Given the description of an element on the screen output the (x, y) to click on. 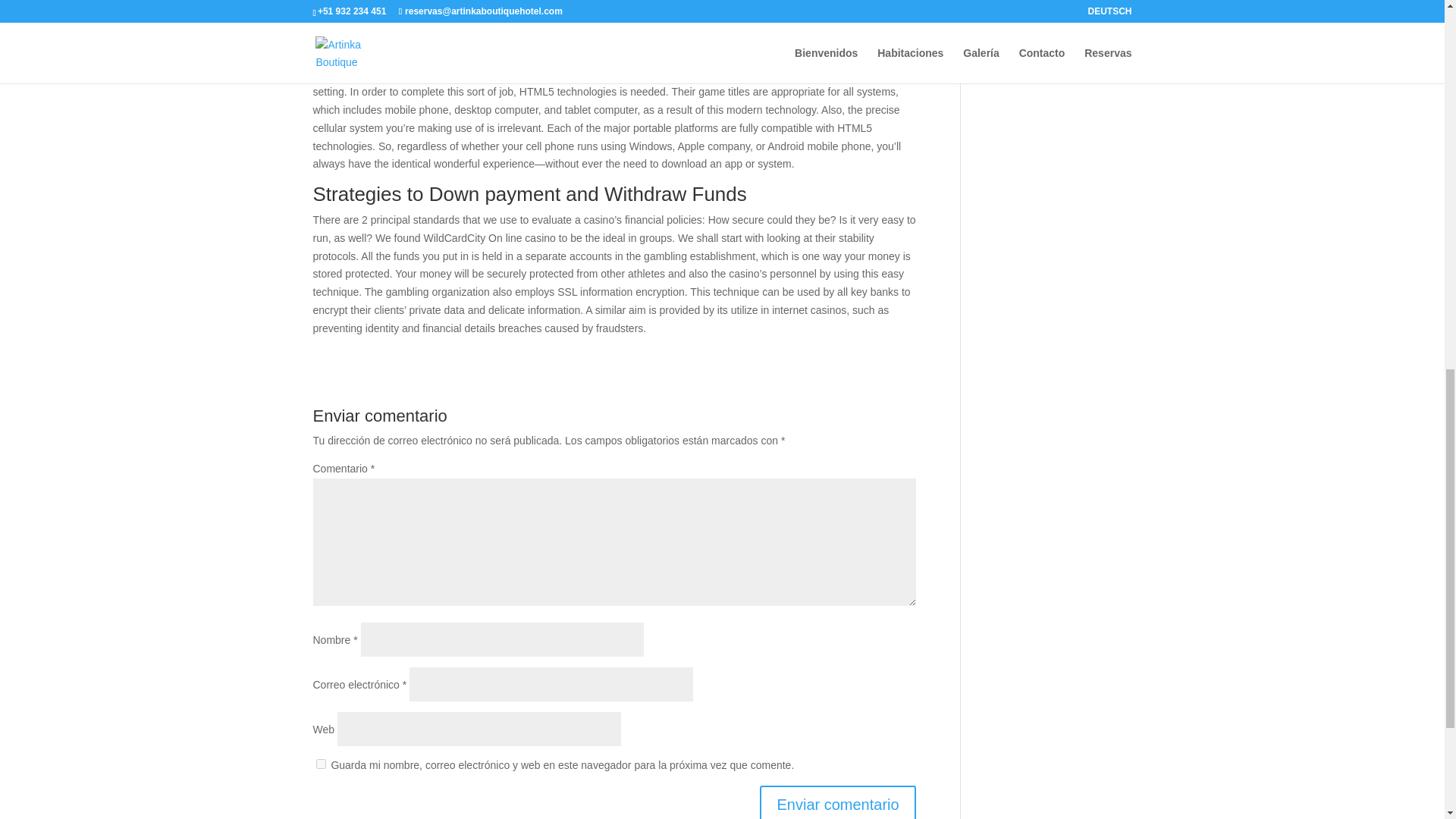
Enviar comentario (837, 802)
yes (319, 764)
Enviar comentario (837, 802)
